Given the description of an element on the screen output the (x, y) to click on. 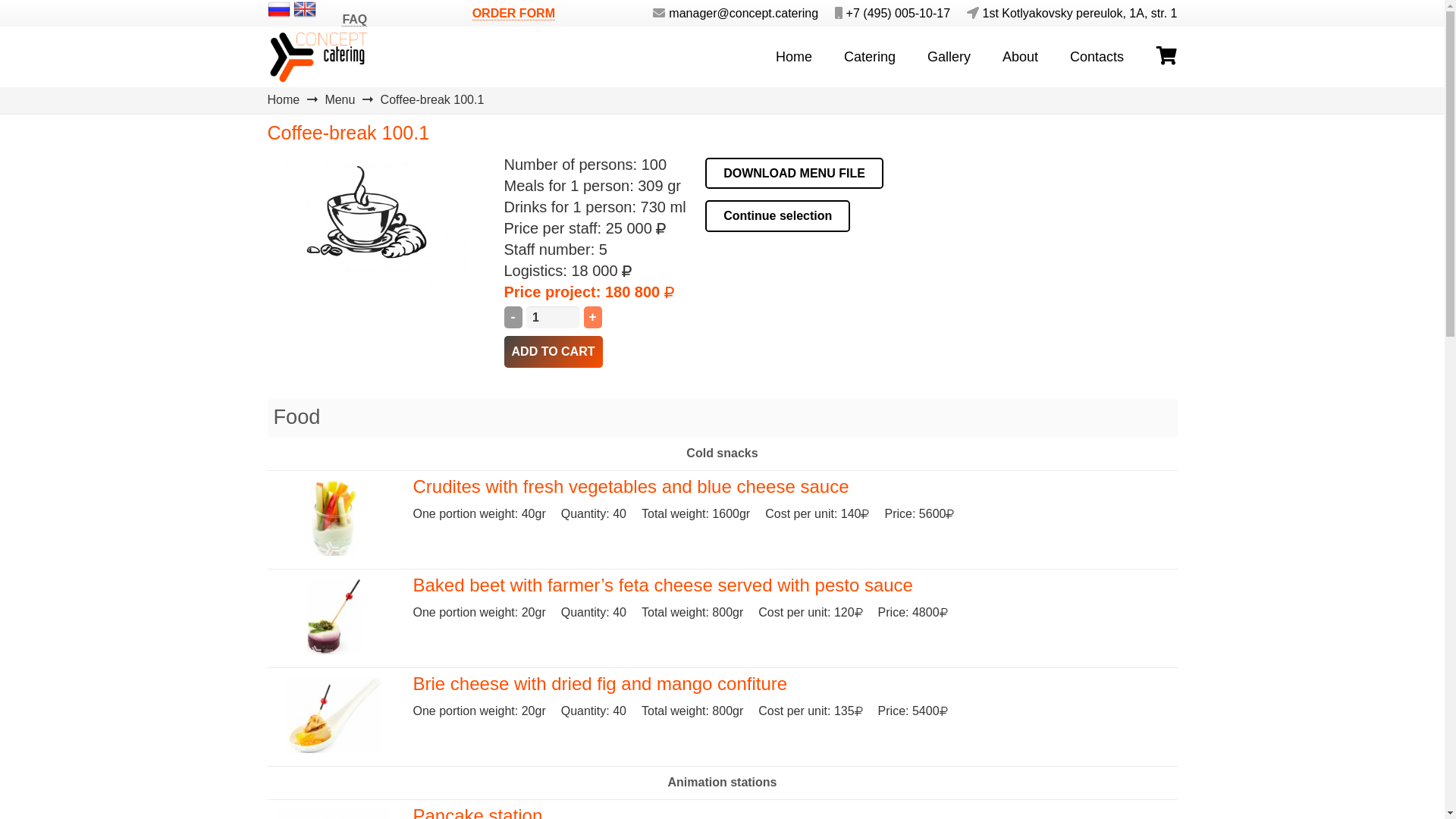
Contacts Element type: text (1096, 56)
Home Element type: text (282, 99)
- Element type: text (512, 317)
FAQ Element type: text (354, 19)
+7 (495) 005-10-17 Element type: text (886, 12)
Continue selection Element type: text (777, 216)
Catering Element type: text (869, 56)
Gallery Element type: text (948, 56)
Menu Element type: text (339, 99)
Home Element type: text (793, 56)
ORDER FORM Element type: text (513, 12)
+ Element type: text (592, 317)
ADD TO CART Element type: text (552, 351)
manager@concept.catering Element type: text (729, 12)
DOWNLOAD MENU FILE Element type: text (794, 173)
About Element type: text (1020, 56)
